Given the description of an element on the screen output the (x, y) to click on. 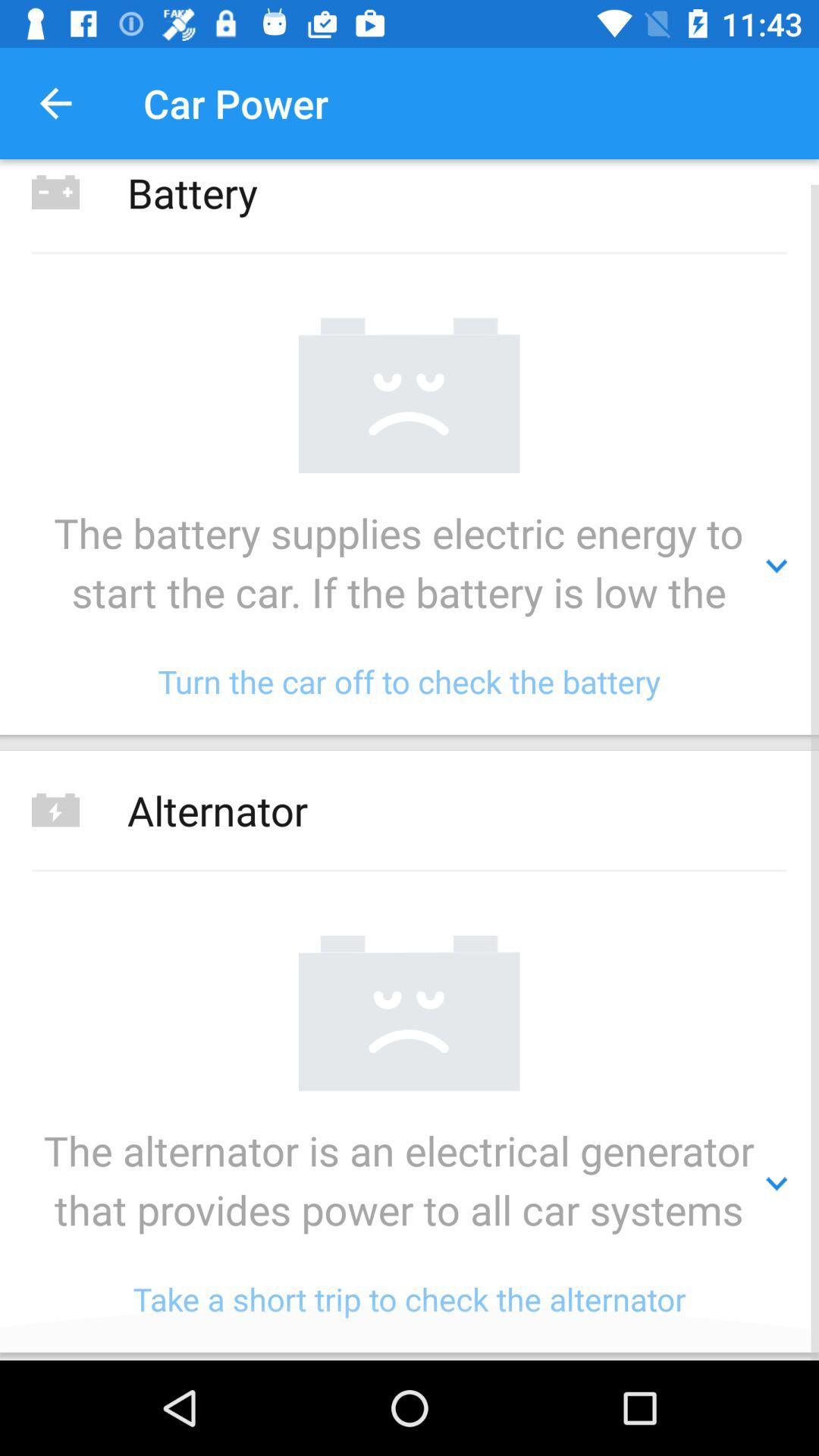
open item to the left of the car power (55, 103)
